Given the description of an element on the screen output the (x, y) to click on. 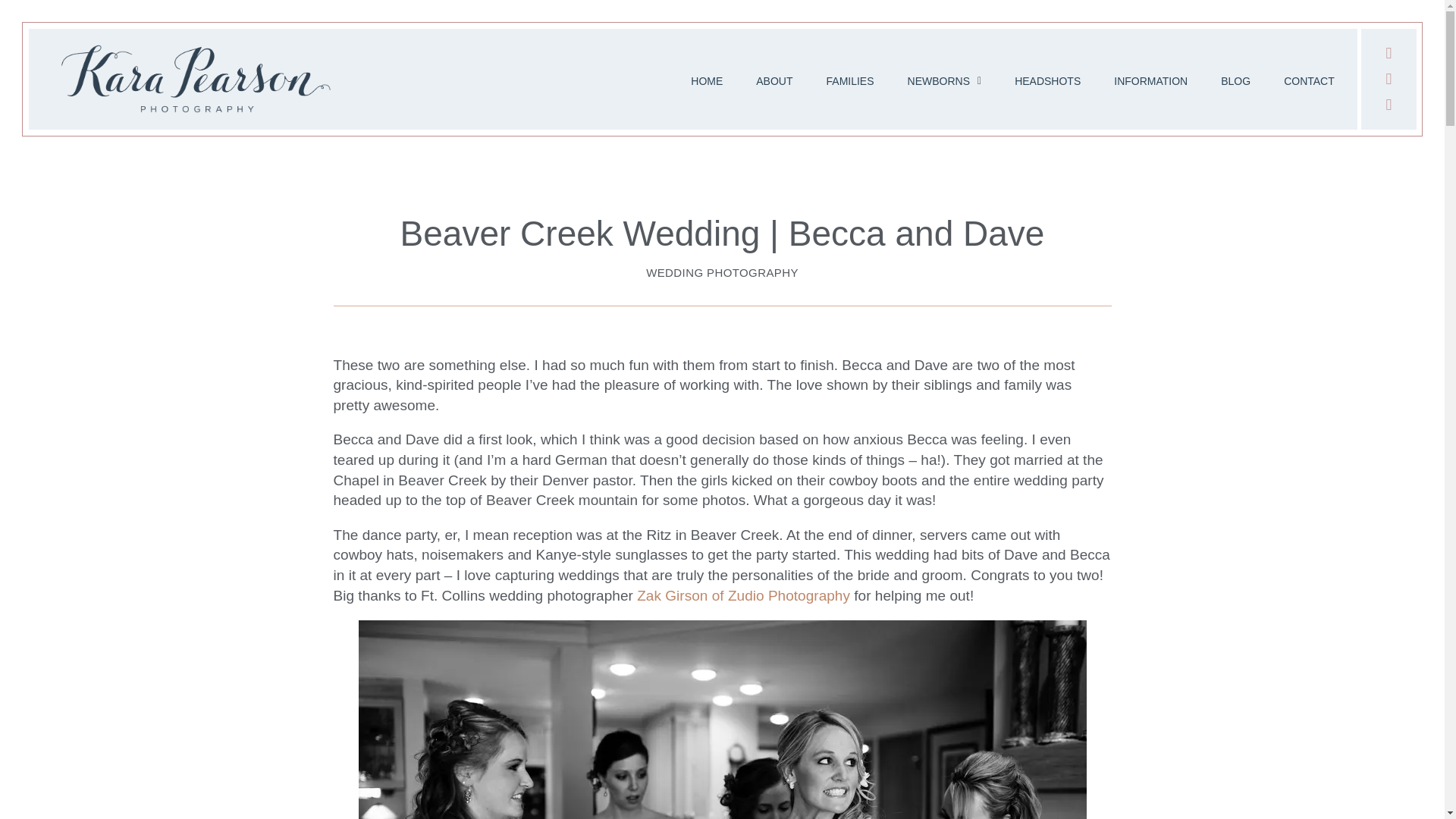
CONTACT (1309, 80)
ABOUT (882, 81)
HEADSHOTS (1058, 80)
FAMILIES (928, 80)
BLOG (1238, 80)
Zak Girson of Zudio Photography (743, 594)
INFORMATION (1155, 80)
WEDDING PHOTOGRAPHY (721, 272)
HOME (879, 80)
NEWBORNS (987, 81)
